Given the description of an element on the screen output the (x, y) to click on. 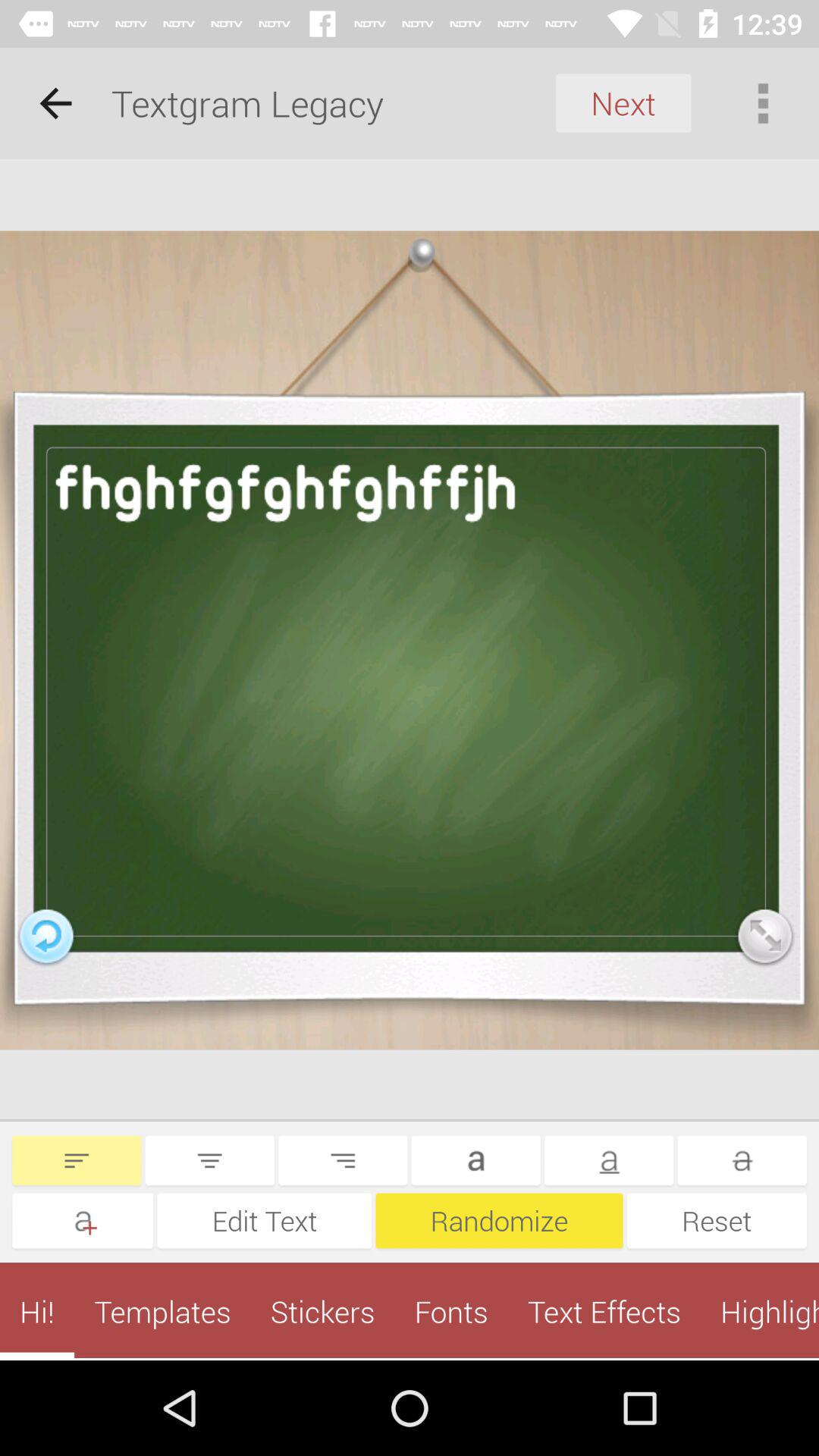
press the item next to the textgram legacy (623, 102)
